Given the description of an element on the screen output the (x, y) to click on. 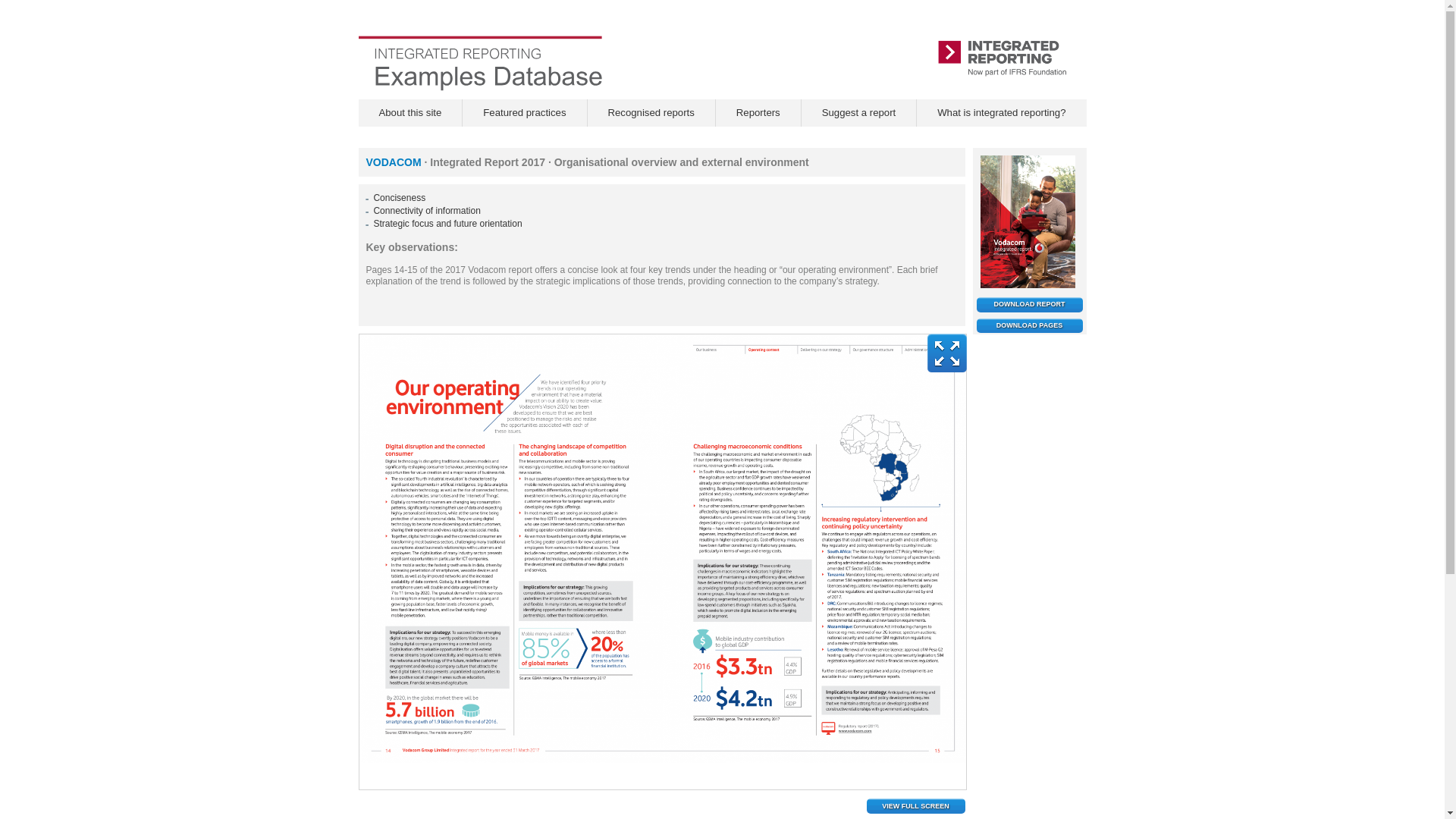
the page will open in a new window (1001, 112)
the PDF document will open in a new window (1029, 325)
Recognised reports (650, 112)
Featured practices (524, 112)
Suggest a report (858, 112)
VIEW FULL SCREEN (914, 806)
About this site (409, 112)
DOWNLOAD PAGES (1029, 325)
DOWNLOAD REPORT (1029, 304)
Reporters (758, 112)
What is integrated reporting? (1001, 112)
VODACOM (394, 162)
the PDF document will open in a new window (1029, 304)
